Given the description of an element on the screen output the (x, y) to click on. 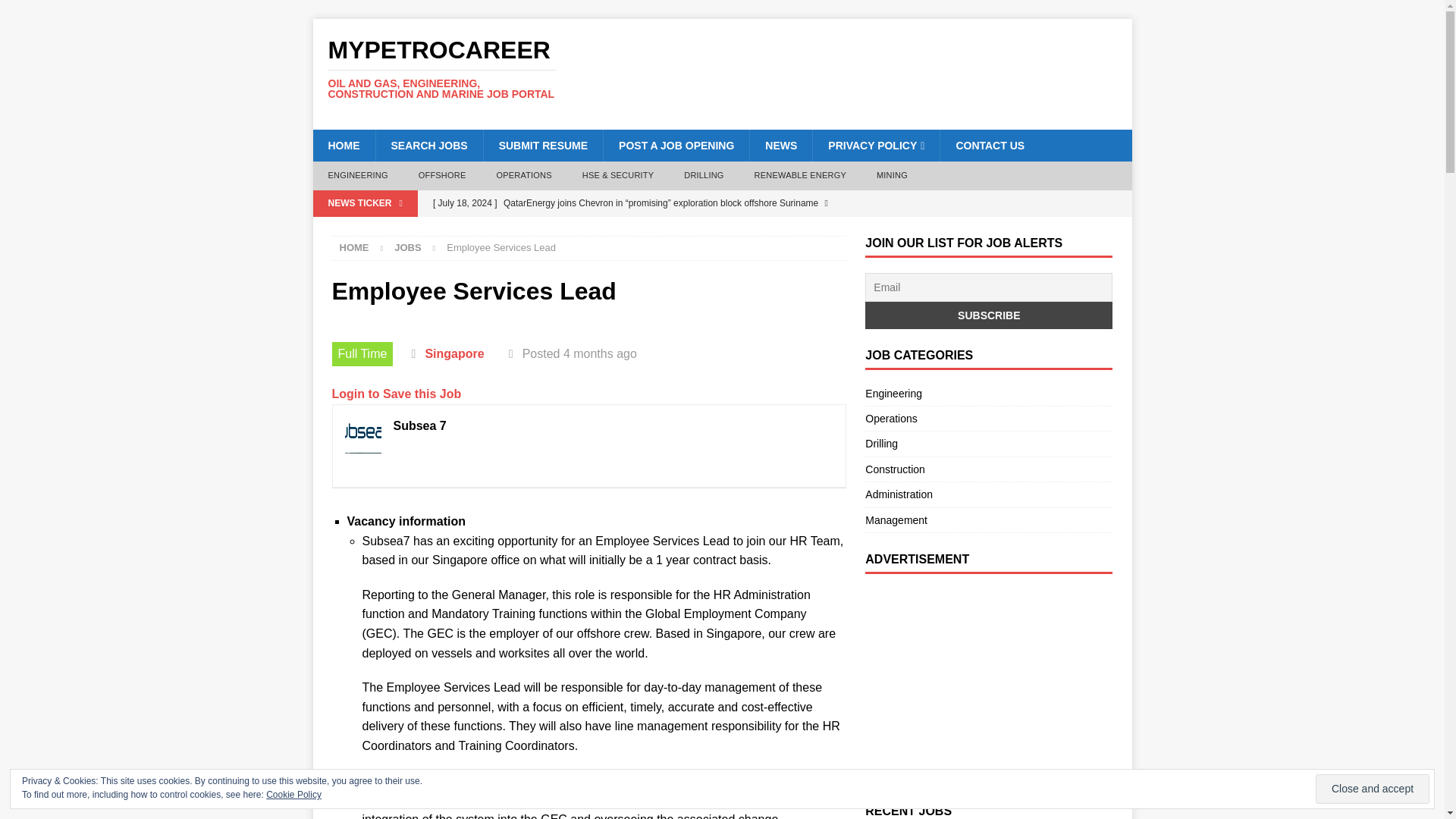
DRILLING (703, 175)
OFFSHORE (442, 175)
Home (354, 247)
RENEWABLE ENERGY (800, 175)
NEWS (780, 145)
SUBMIT RESUME (542, 145)
MyPetroCareer (441, 68)
Singapore (454, 353)
PRIVACY POLICY (875, 145)
Login to Save this Job (396, 393)
OPERATIONS (523, 175)
HOME (343, 145)
Close and accept (1372, 788)
SEARCH JOBS (427, 145)
